Given the description of an element on the screen output the (x, y) to click on. 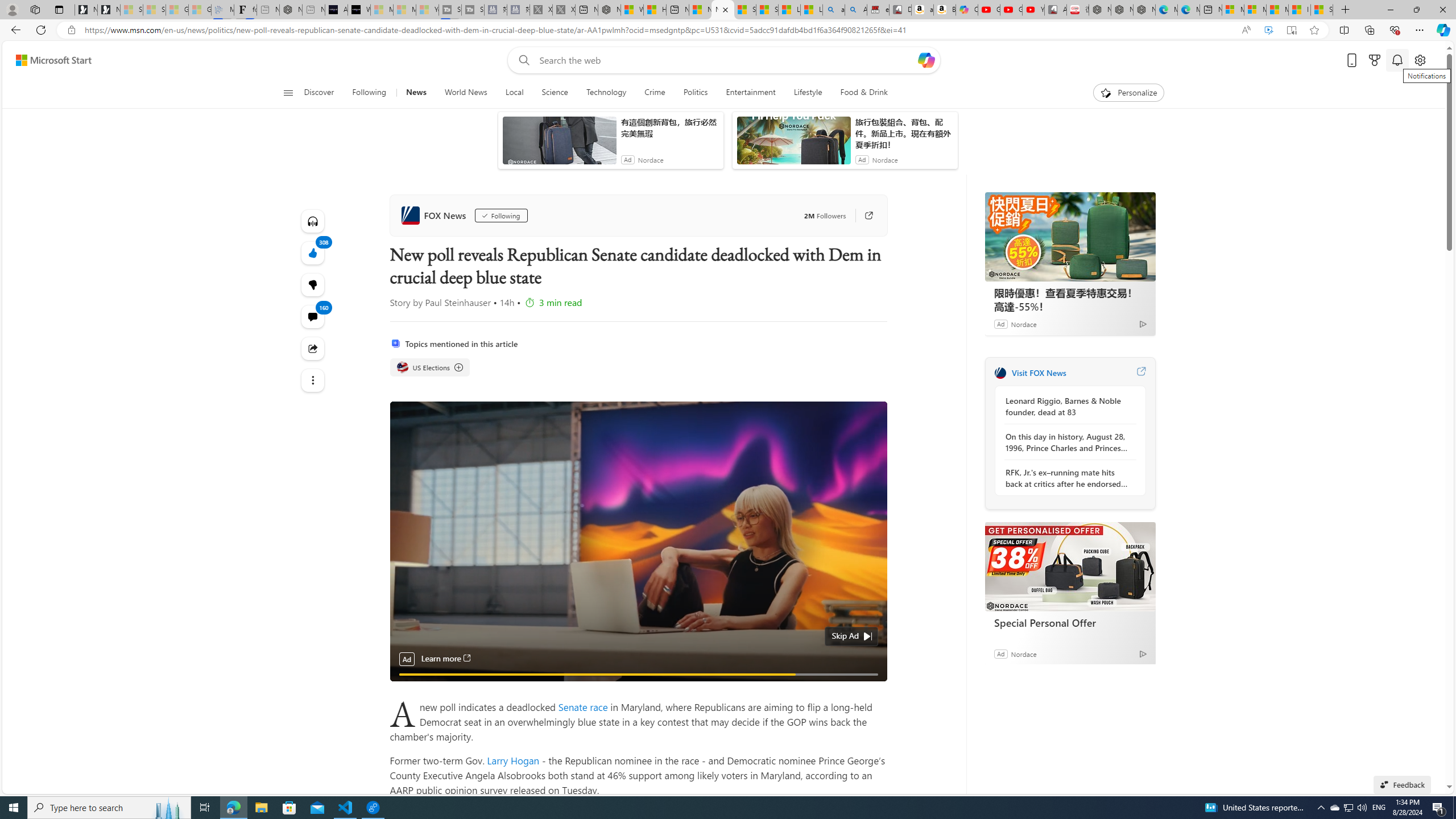
Senate race  (584, 706)
Special Personal Offer (1070, 566)
Listen to this article (312, 220)
Visit FOX News website (1140, 372)
US Elections (401, 367)
Enhance video (1268, 29)
Entertainment (750, 92)
View comments 160 Comment (312, 316)
